Given the description of an element on the screen output the (x, y) to click on. 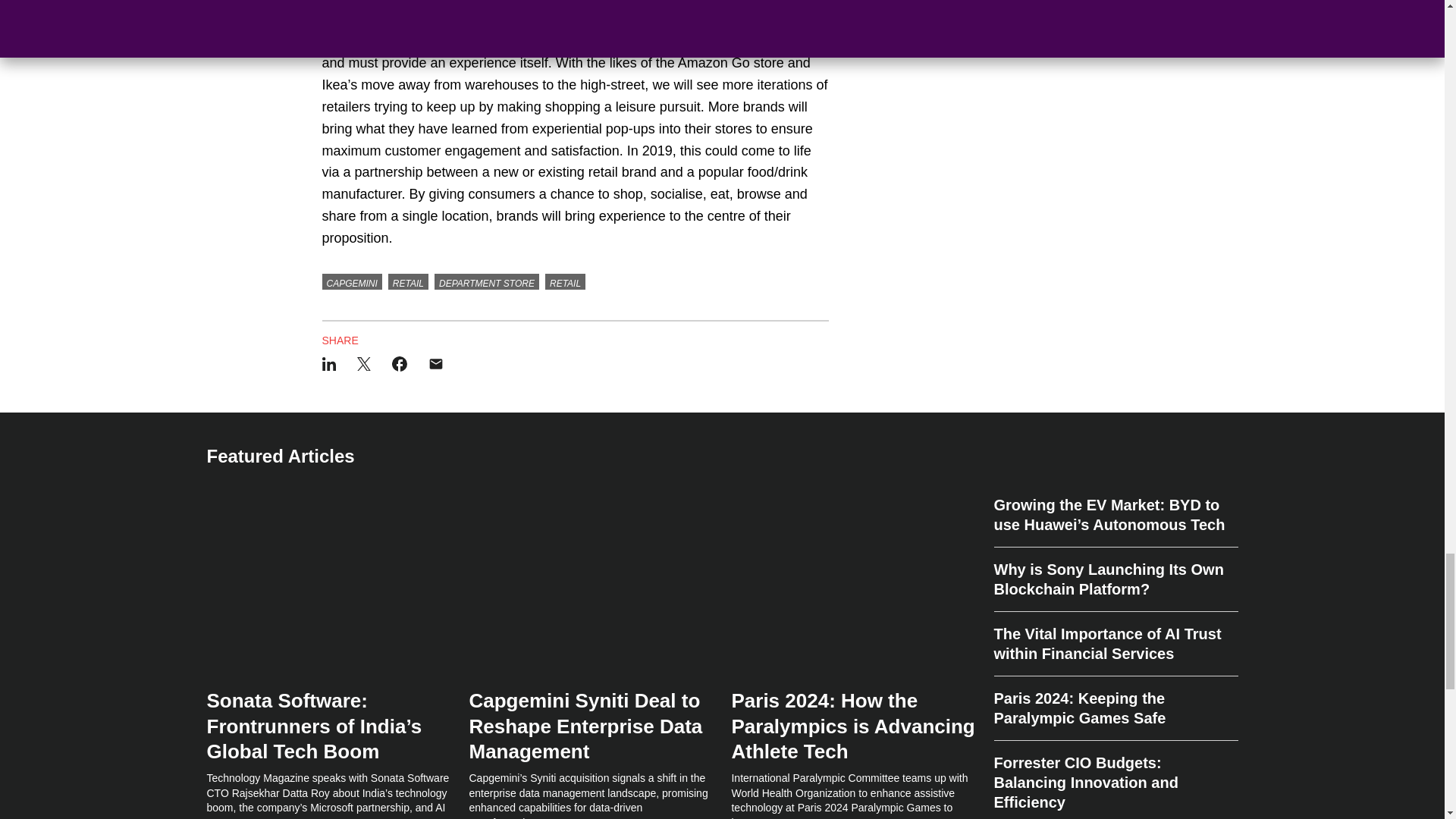
CAPGEMINI (351, 281)
DEPARTMENT STORE (485, 281)
Paris 2024: Keeping the Paralympic Games Safe (1114, 708)
RETAIL (408, 281)
The Vital Importance of AI Trust within Financial Services (1114, 643)
RETAIL (564, 281)
Why is Sony Launching Its Own Blockchain Platform? (1114, 579)
Forrester CIO Budgets: Balancing Innovation and Efficiency (1114, 776)
